Given the description of an element on the screen output the (x, y) to click on. 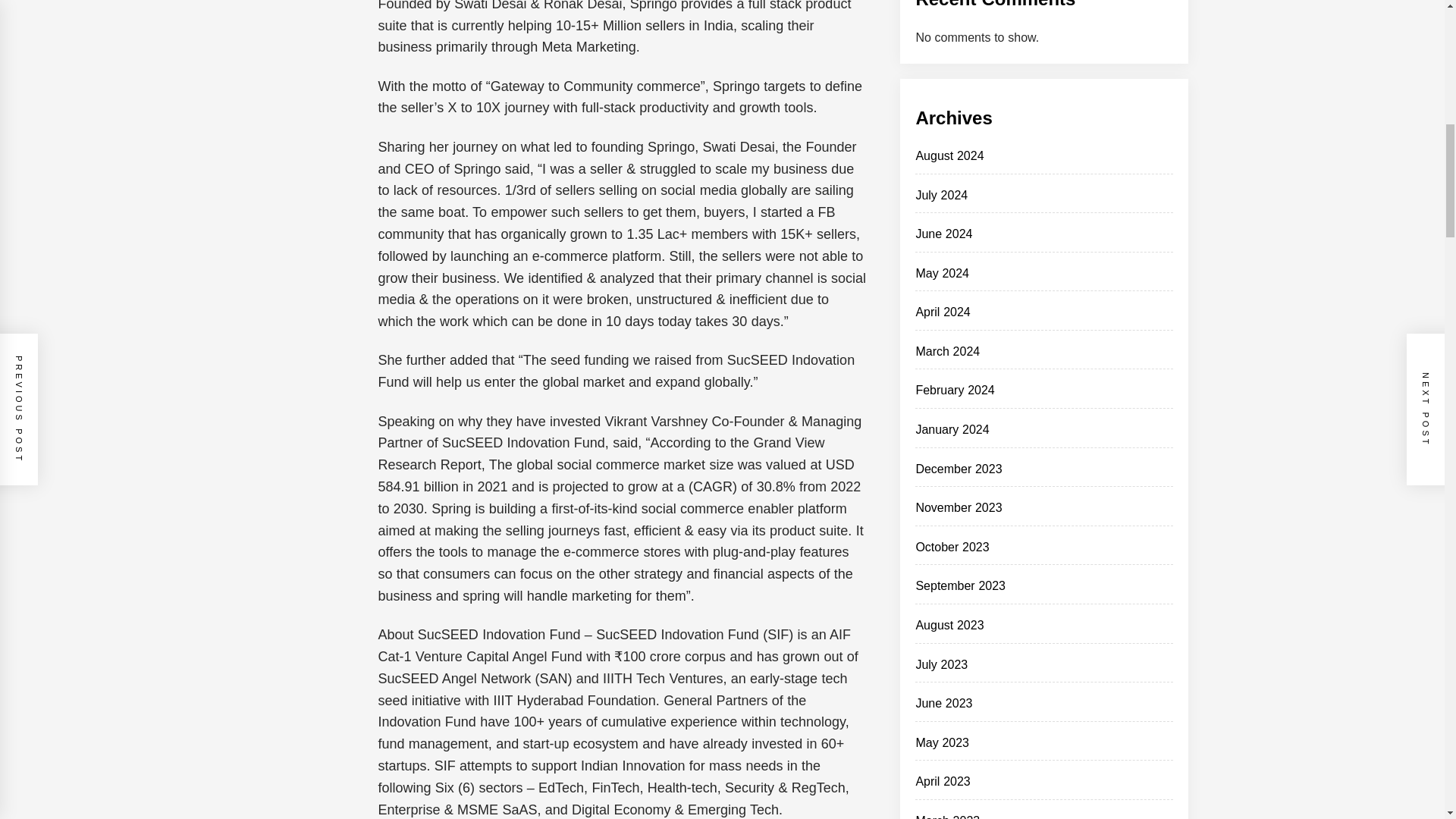
March 2024 (947, 350)
June 2024 (943, 233)
August 2024 (949, 155)
July 2024 (941, 195)
April 2024 (942, 311)
May 2024 (942, 273)
January 2024 (951, 429)
February 2024 (954, 390)
